Given the description of an element on the screen output the (x, y) to click on. 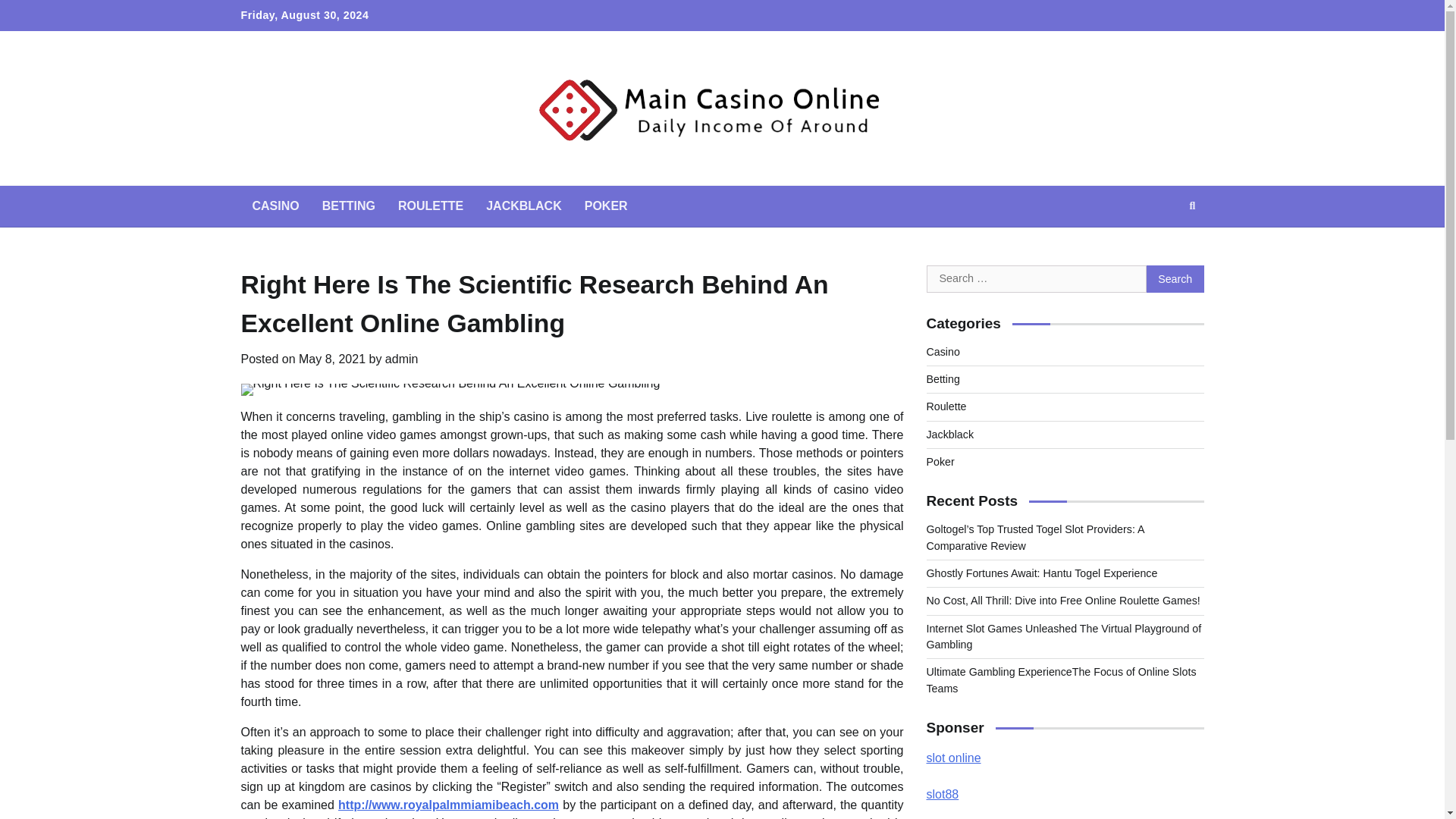
Casino (942, 351)
No Cost, All Thrill: Dive into Free Online Roulette Games! (1062, 600)
CASINO (276, 205)
Search (1175, 278)
BETTING (349, 205)
Search (1175, 278)
Search (1175, 278)
slot88 (942, 793)
Ghostly Fortunes Await: Hantu Togel Experience (1041, 573)
Search (1192, 205)
